Given the description of an element on the screen output the (x, y) to click on. 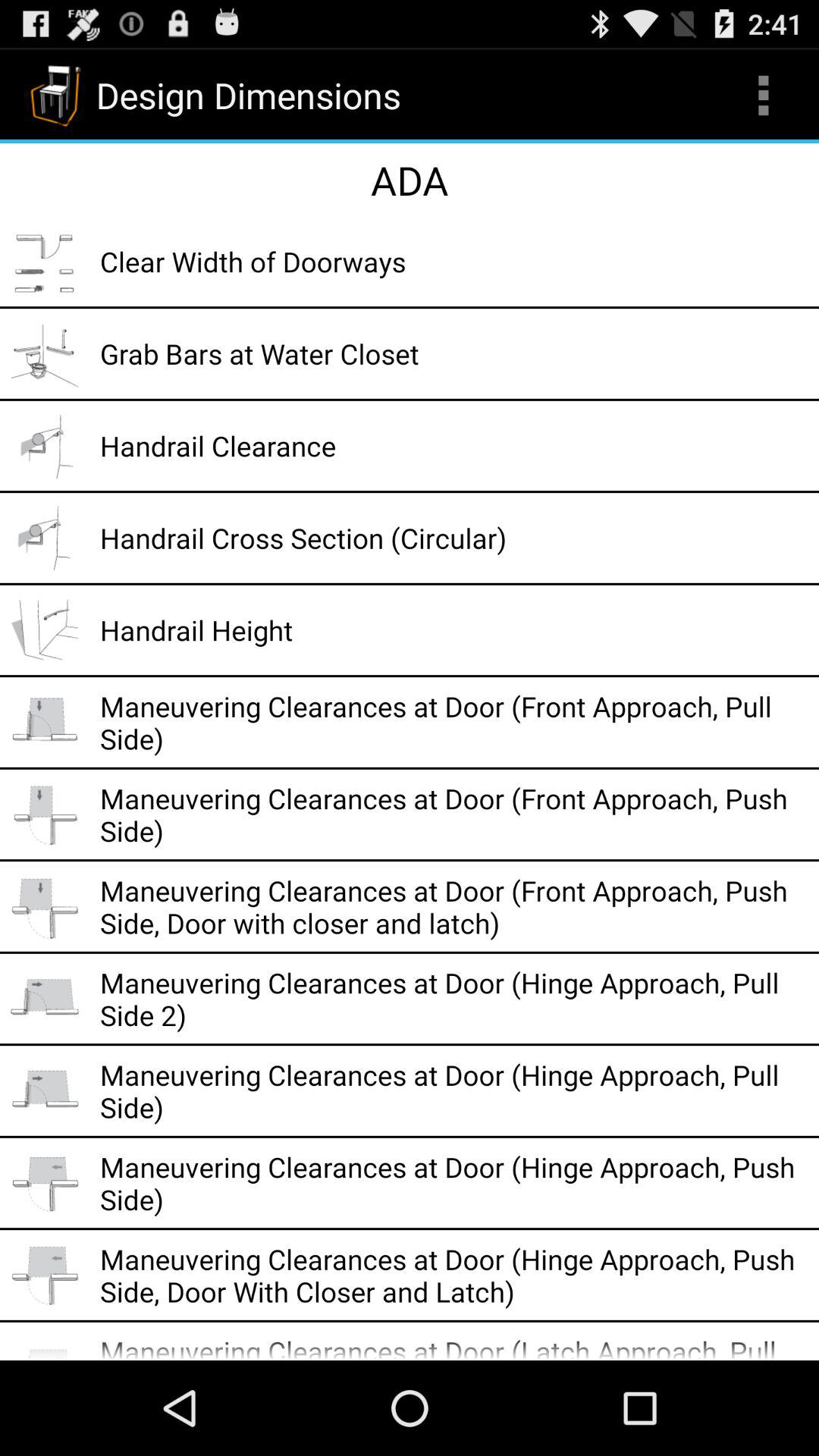
launch handrail height app (454, 630)
